Given the description of an element on the screen output the (x, y) to click on. 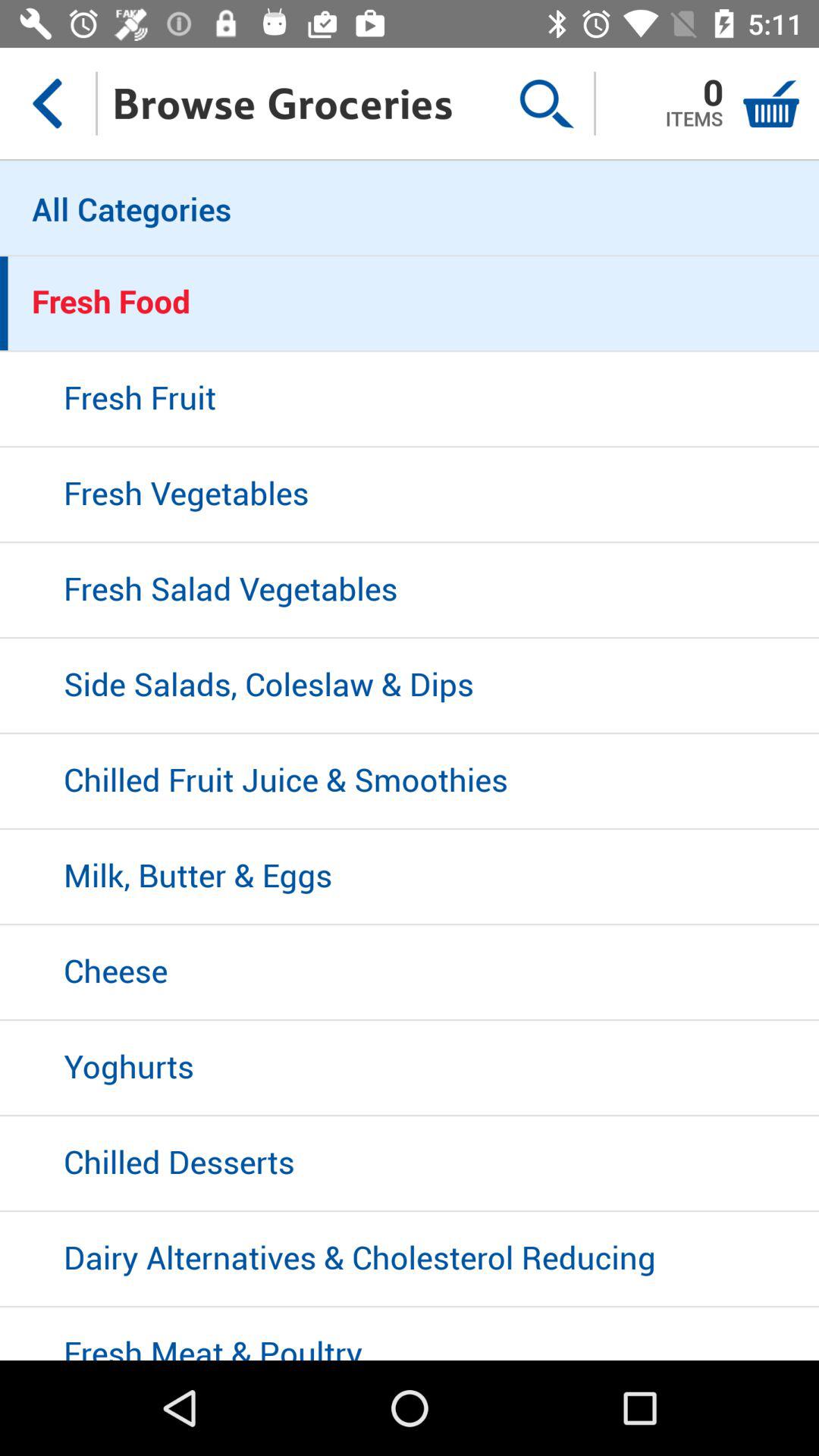
flip to side salads coleslaw item (409, 686)
